Given the description of an element on the screen output the (x, y) to click on. 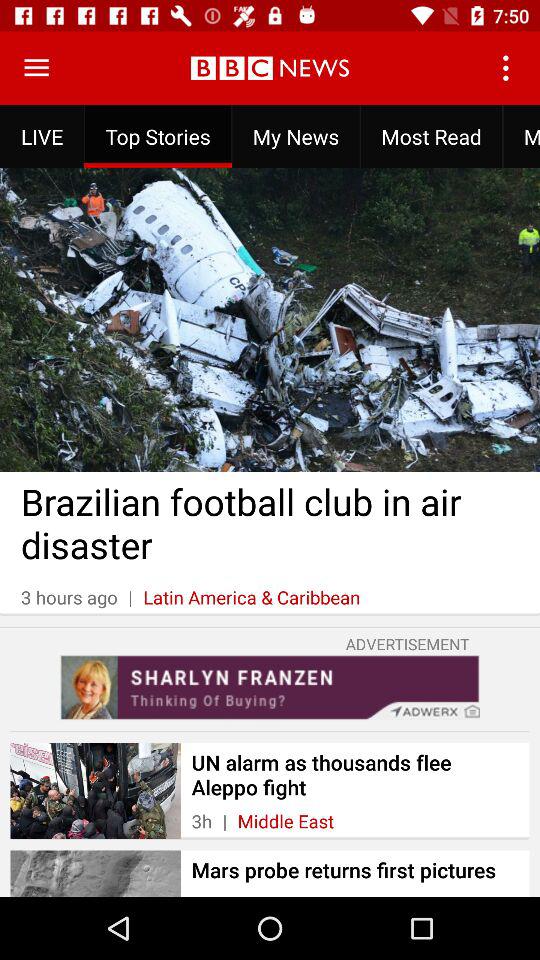
open menu (36, 68)
